Given the description of an element on the screen output the (x, y) to click on. 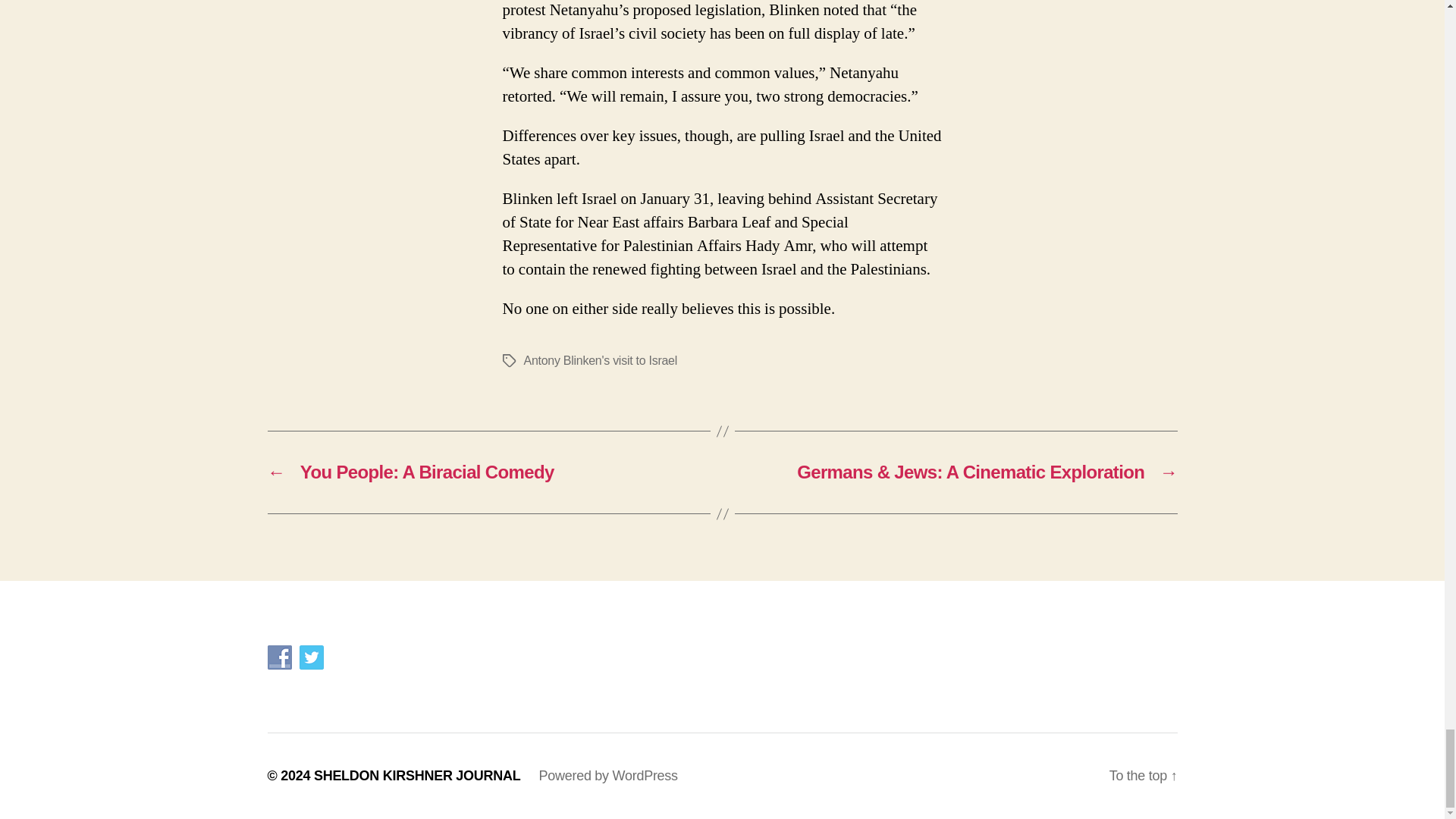
Powered by WordPress (607, 775)
Antony Blinken's visit to Israel (599, 359)
 Facebook (278, 657)
 Twitter (310, 657)
SHELDON KIRSHNER JOURNAL (417, 775)
